Given the description of an element on the screen output the (x, y) to click on. 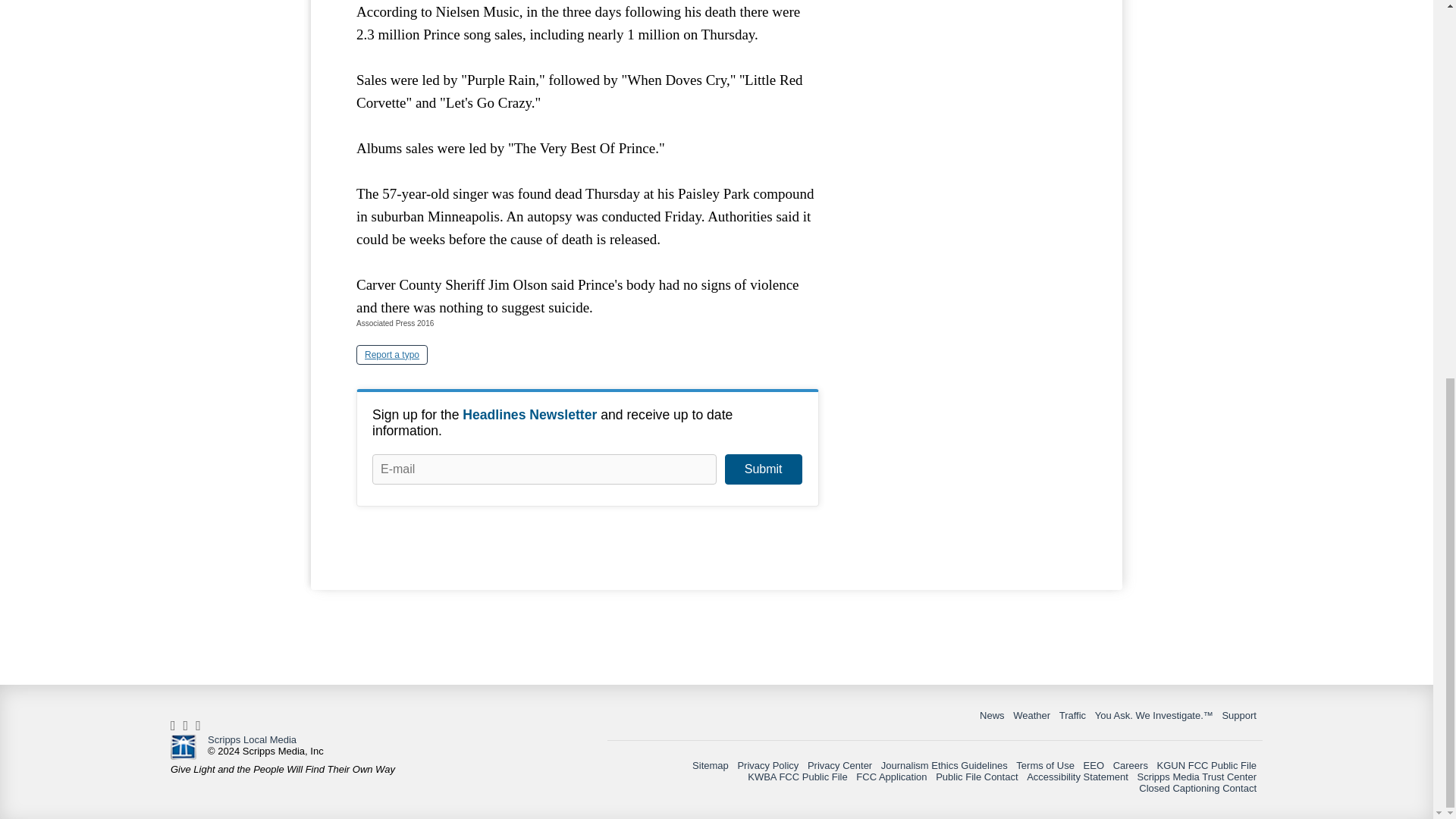
Submit (763, 469)
